Given the description of an element on the screen output the (x, y) to click on. 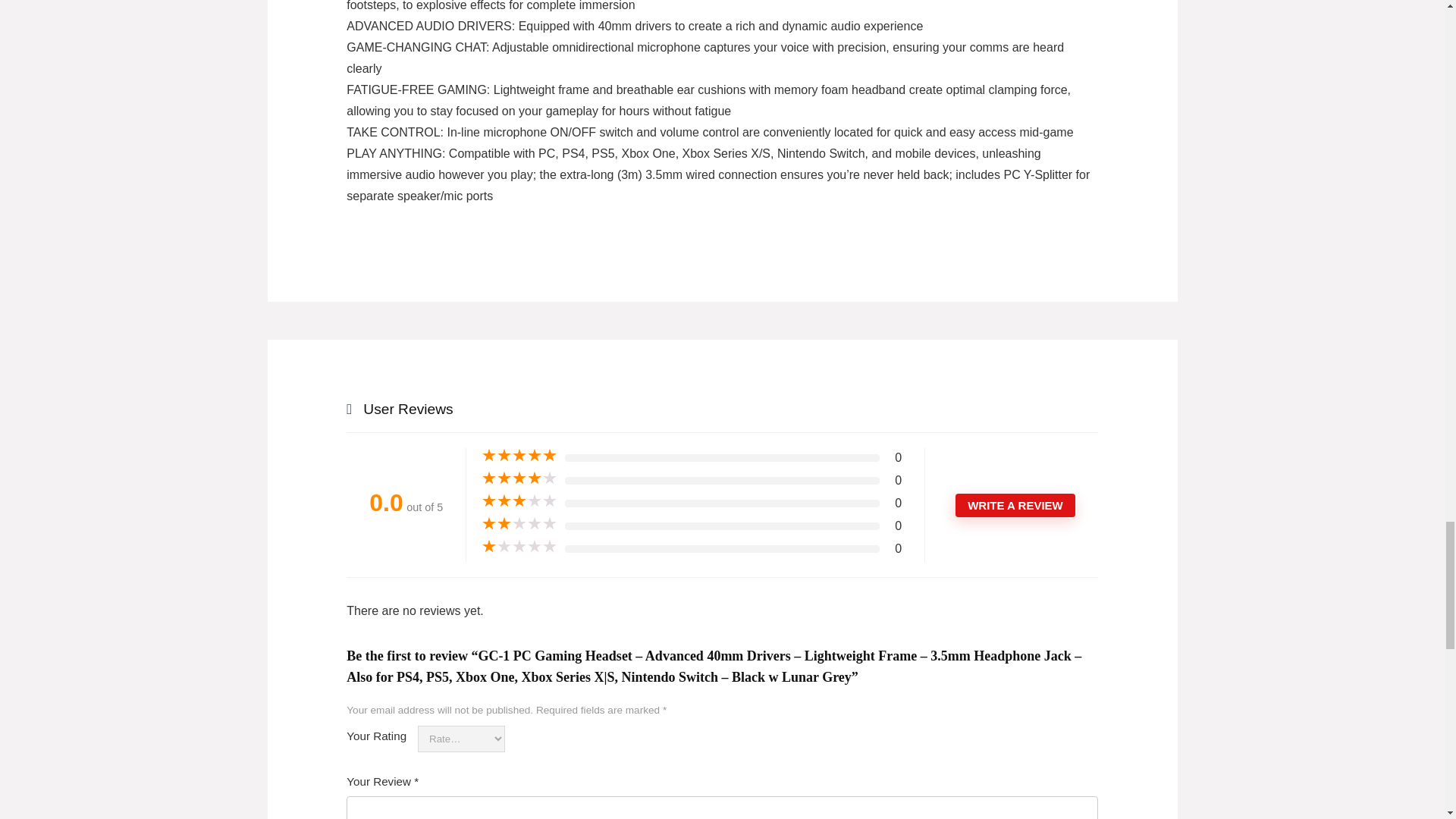
Rated 1 out of 5 (519, 546)
Rated 5 out of 5 (519, 455)
Rated 3 out of 5 (519, 500)
WRITE A REVIEW (1015, 504)
Rated 2 out of 5 (519, 523)
Rated 4 out of 5 (519, 478)
